Given the description of an element on the screen output the (x, y) to click on. 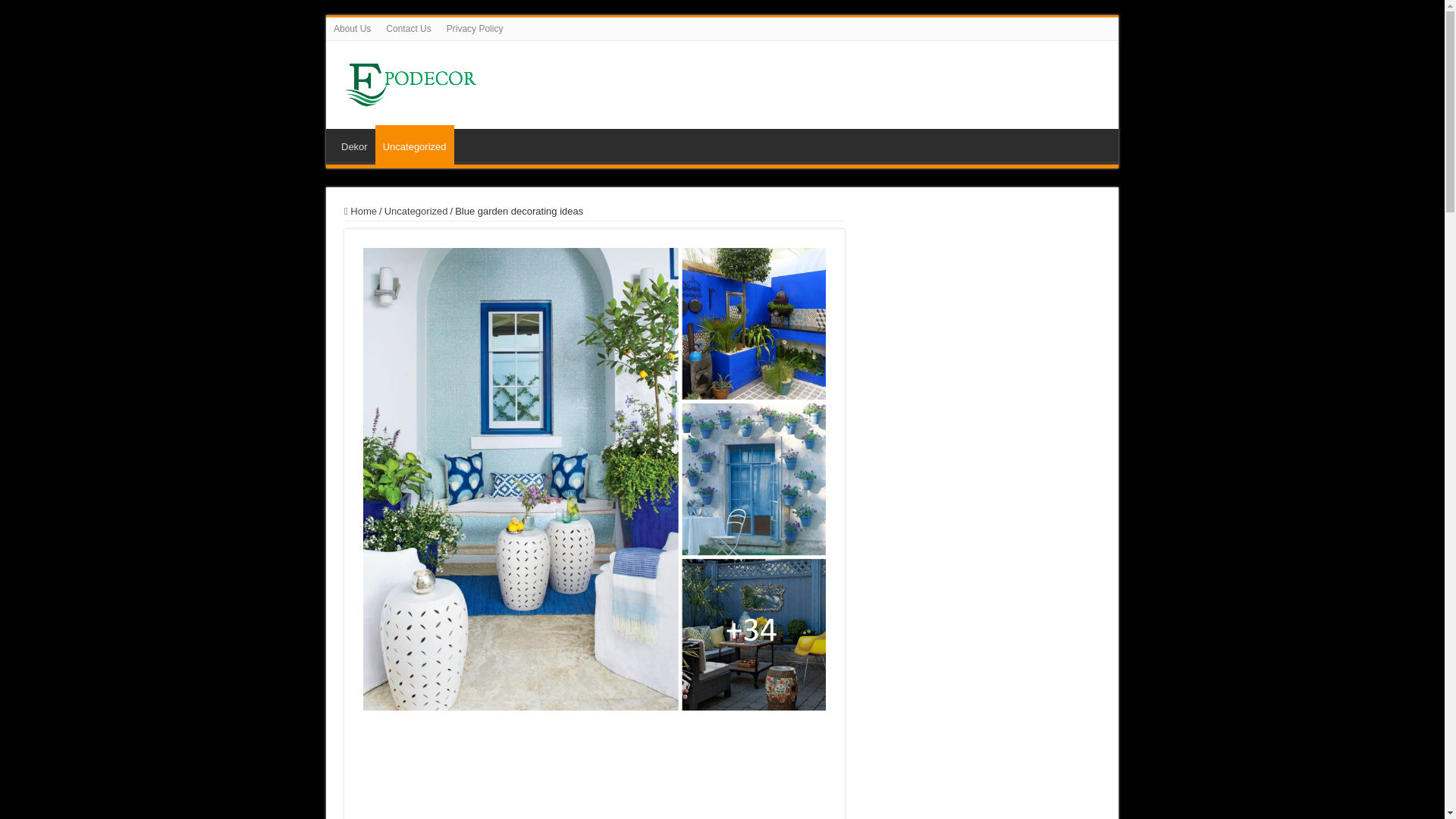
Contact Us (408, 28)
Advertisement (982, 299)
Uncategorized (416, 211)
Uncategorized (414, 144)
Advertisement (594, 766)
About Us (352, 28)
Home (360, 211)
Dekor (354, 144)
Privacy Policy (475, 28)
